Given the description of an element on the screen output the (x, y) to click on. 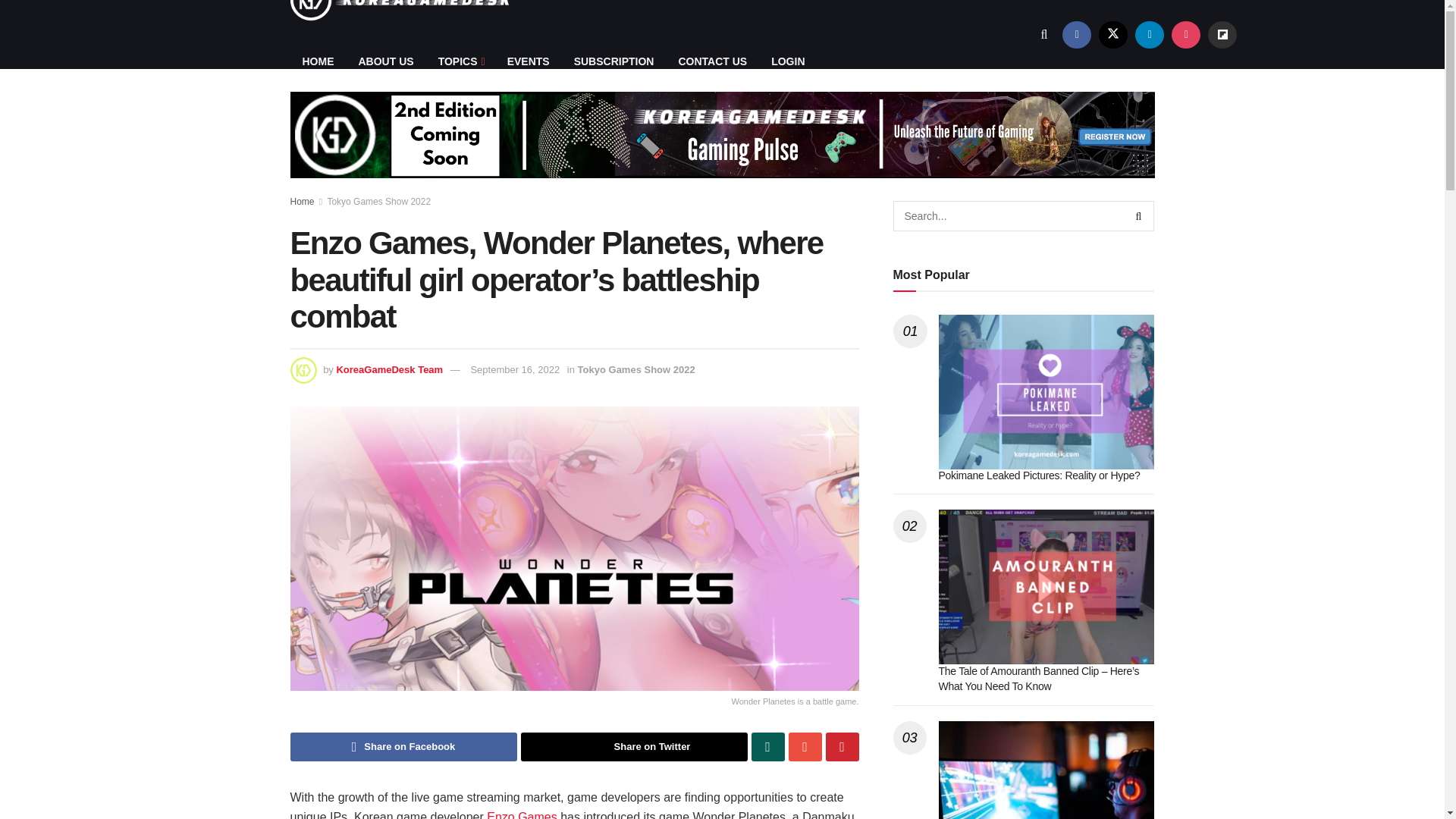
CONTACT US (711, 61)
TOPICS (460, 61)
ABOUT US (385, 61)
SUBSCRIPTION (614, 61)
EVENTS (528, 61)
